Given the description of an element on the screen output the (x, y) to click on. 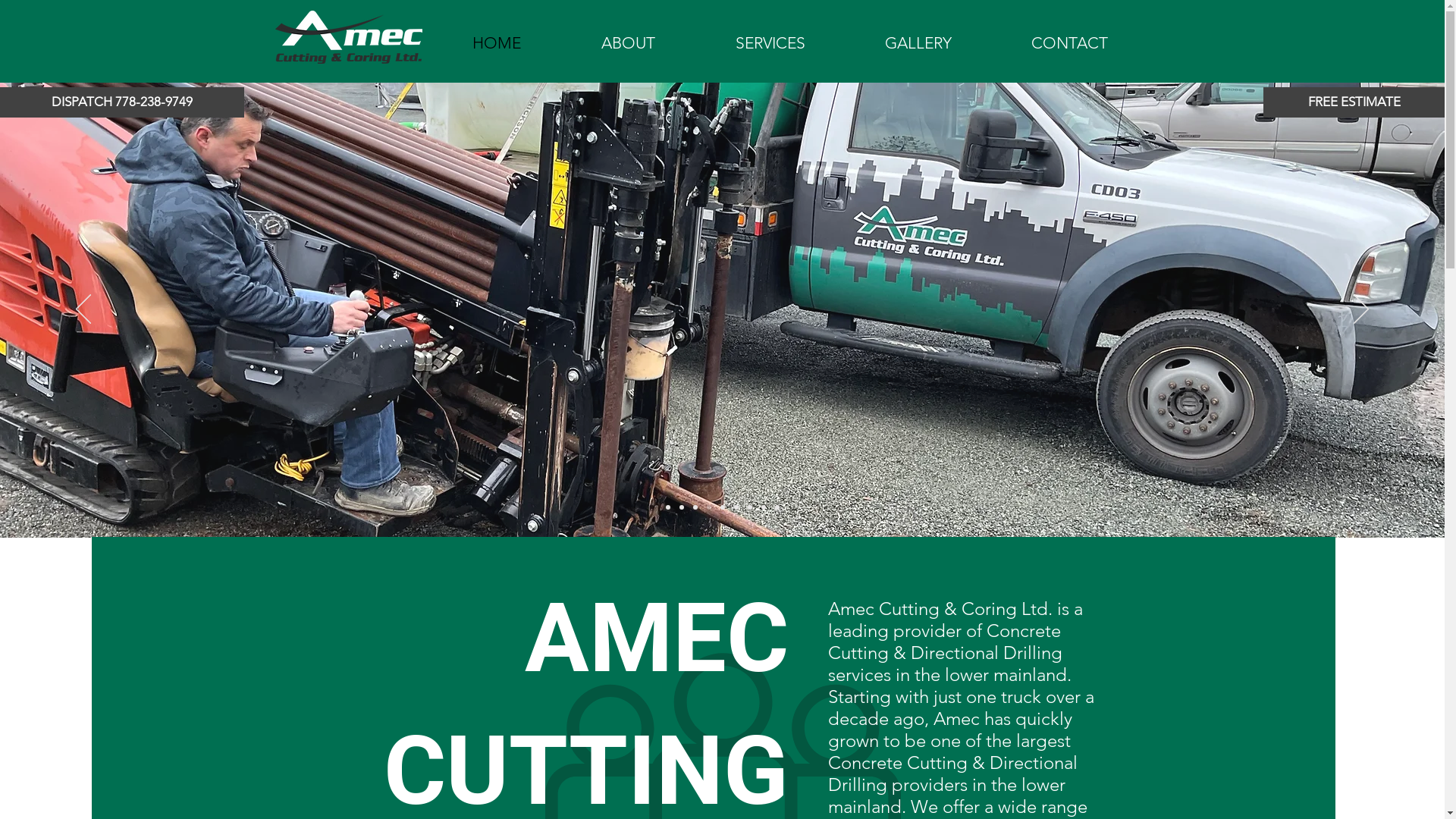
CONTACT Element type: text (1068, 42)
FREE ESTIMATE Element type: text (1353, 102)
ABOUT Element type: text (628, 42)
HOME Element type: text (496, 42)
GALLERY Element type: text (917, 42)
SERVICES Element type: text (769, 42)
